Given the description of an element on the screen output the (x, y) to click on. 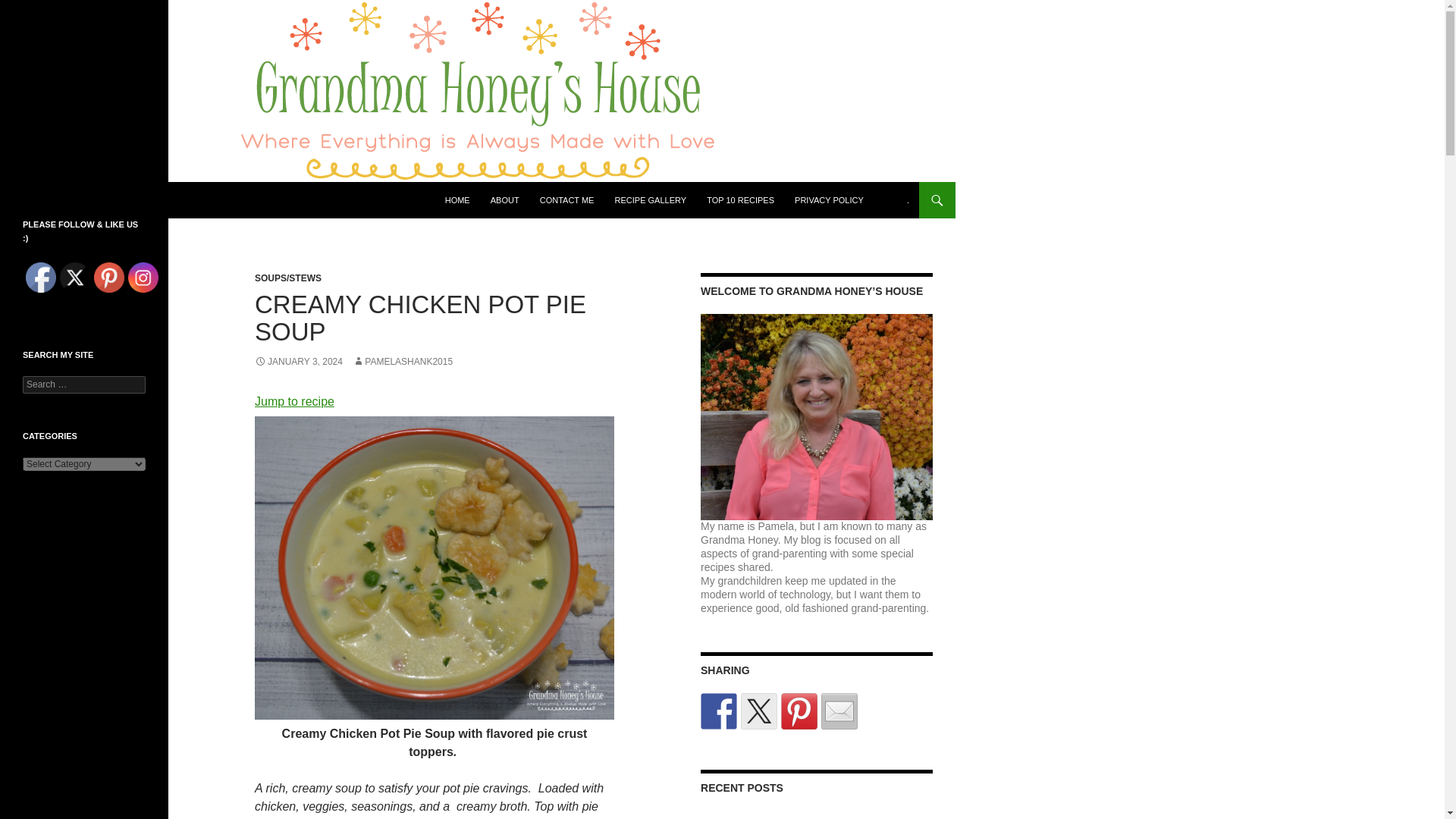
JANUARY 3, 2024 (298, 361)
Share on Twitter (759, 710)
PRIVACY POLICY (829, 199)
RECIPE GALLERY (650, 199)
Pin it with Pinterest (798, 710)
My blog (802, 539)
PAMELASHANK2015 (402, 361)
Share on Facebook (718, 710)
GRANDMA HONEY'S HOUSE (117, 199)
